Given the description of an element on the screen output the (x, y) to click on. 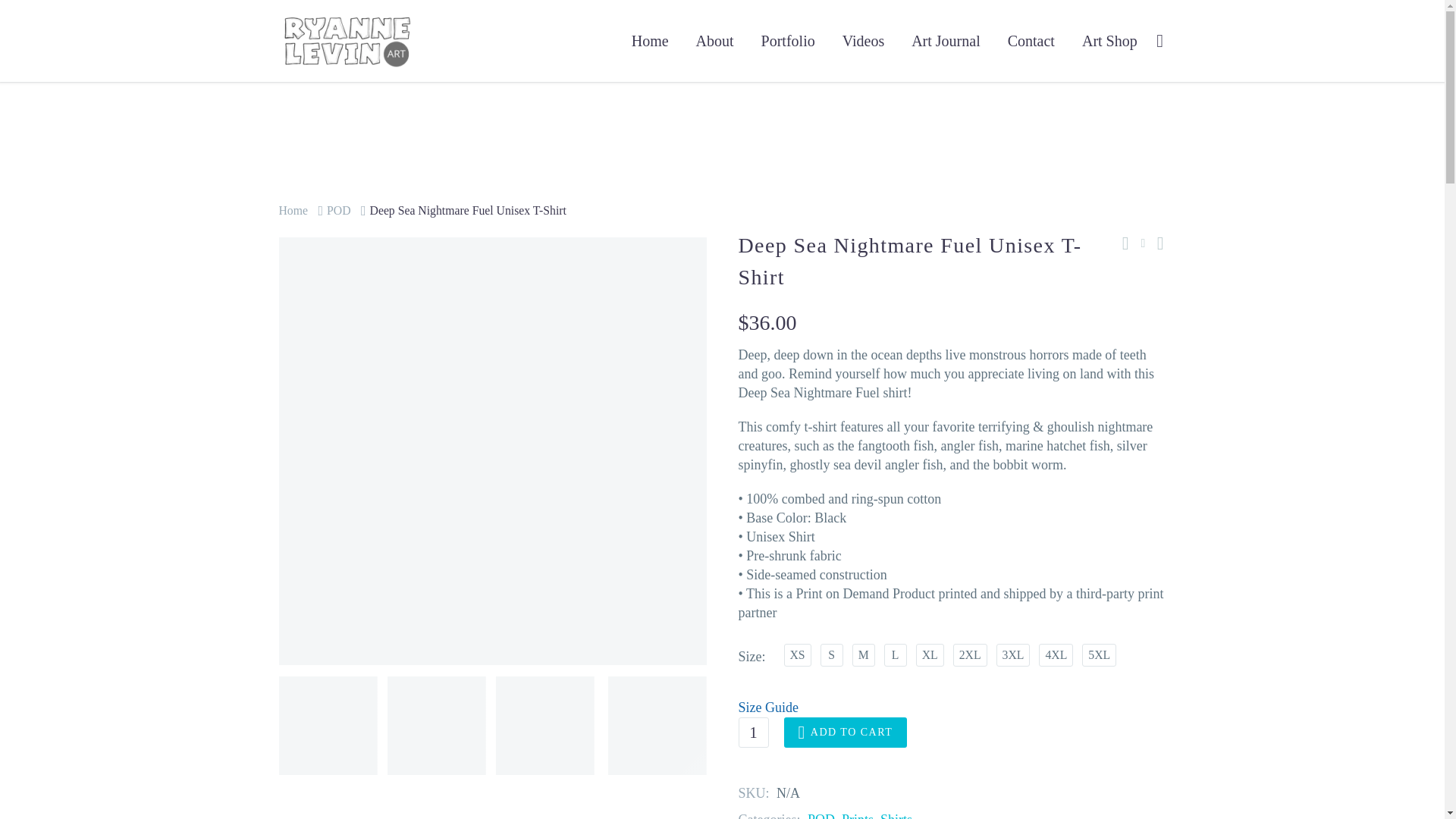
Art Shop (1109, 40)
POD (821, 815)
Art Journal (945, 40)
POD (338, 210)
Portfolio (788, 40)
Contact (1030, 40)
Size Guide (952, 707)
Home (293, 210)
About (714, 40)
1 (752, 732)
